Given the description of an element on the screen output the (x, y) to click on. 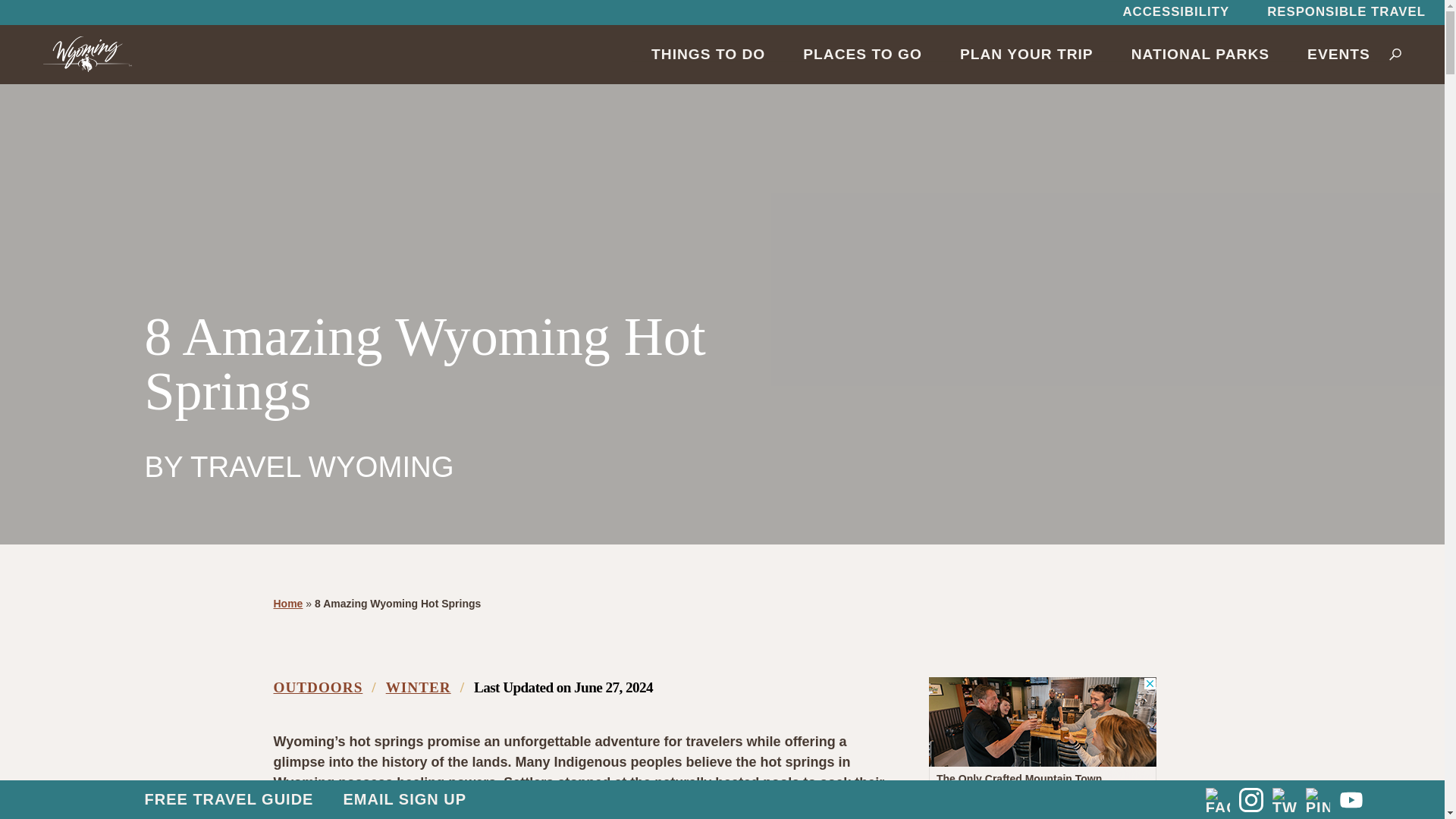
THINGS TO DO (707, 53)
RESPONSIBLE TRAVEL (1345, 11)
ACCESSIBILITY (1175, 11)
EVENTS (1338, 53)
PLAN YOUR TRIP (1026, 53)
NATIONAL PARKS (1200, 53)
PLACES TO GO (862, 53)
3rd party ad content (1042, 748)
